Given the description of an element on the screen output the (x, y) to click on. 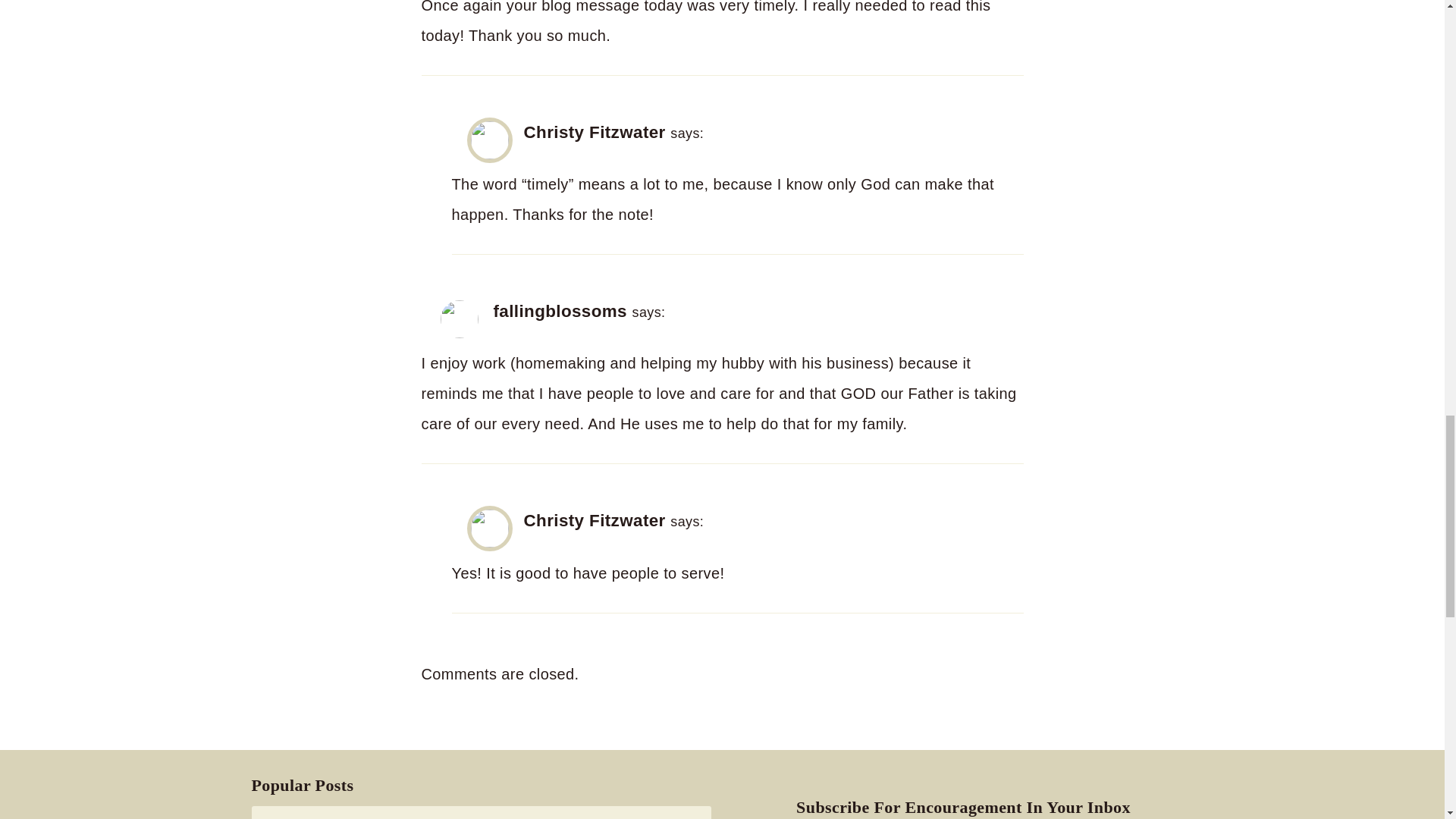
Christy Fitzwater (593, 131)
Christy Fitzwater (593, 520)
fallingblossoms (559, 311)
